Given the description of an element on the screen output the (x, y) to click on. 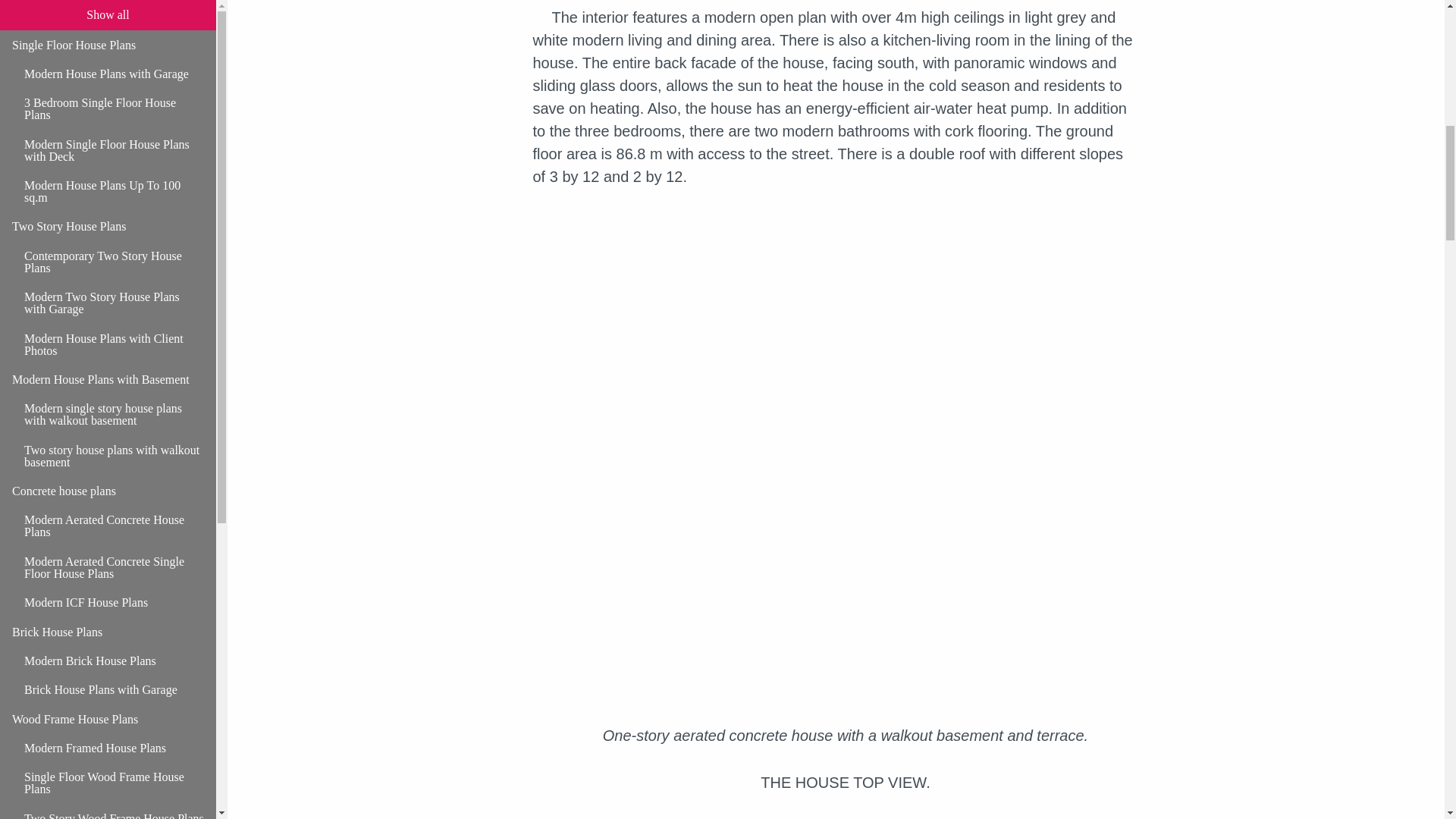
New Technologies (107, 203)
Design Ideas (107, 57)
Modern Kitchen Design (113, 115)
Timber House Plans (107, 28)
Two Story Wood Frame House Plans (113, 7)
Modern Bedroom Design (113, 144)
Modern Bathroom Design (113, 174)
Ventilation (113, 360)
Modern Building Materials (113, 290)
Solar Energy (113, 261)
